Given the description of an element on the screen output the (x, y) to click on. 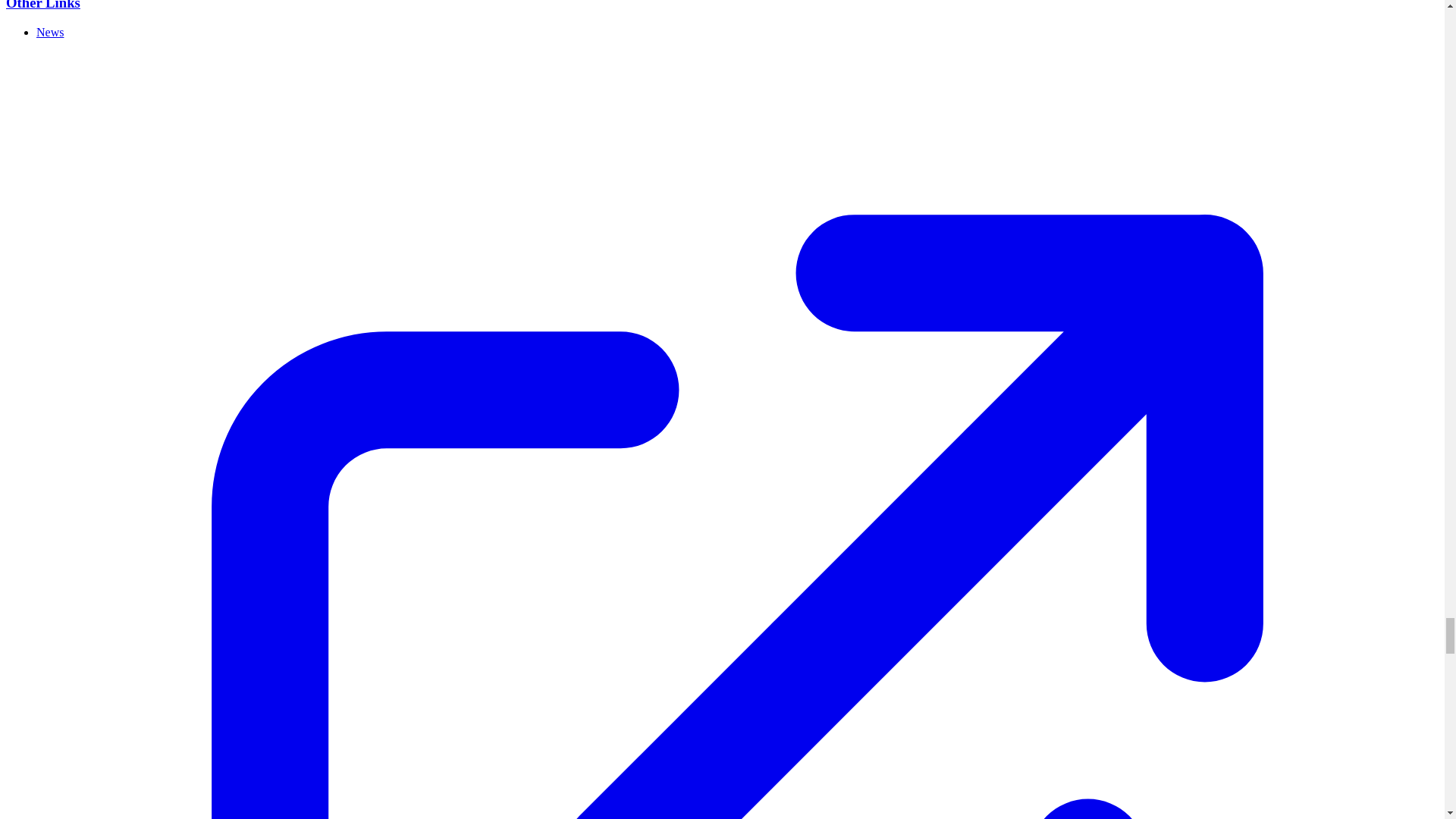
Other Links (42, 5)
